Given the description of an element on the screen output the (x, y) to click on. 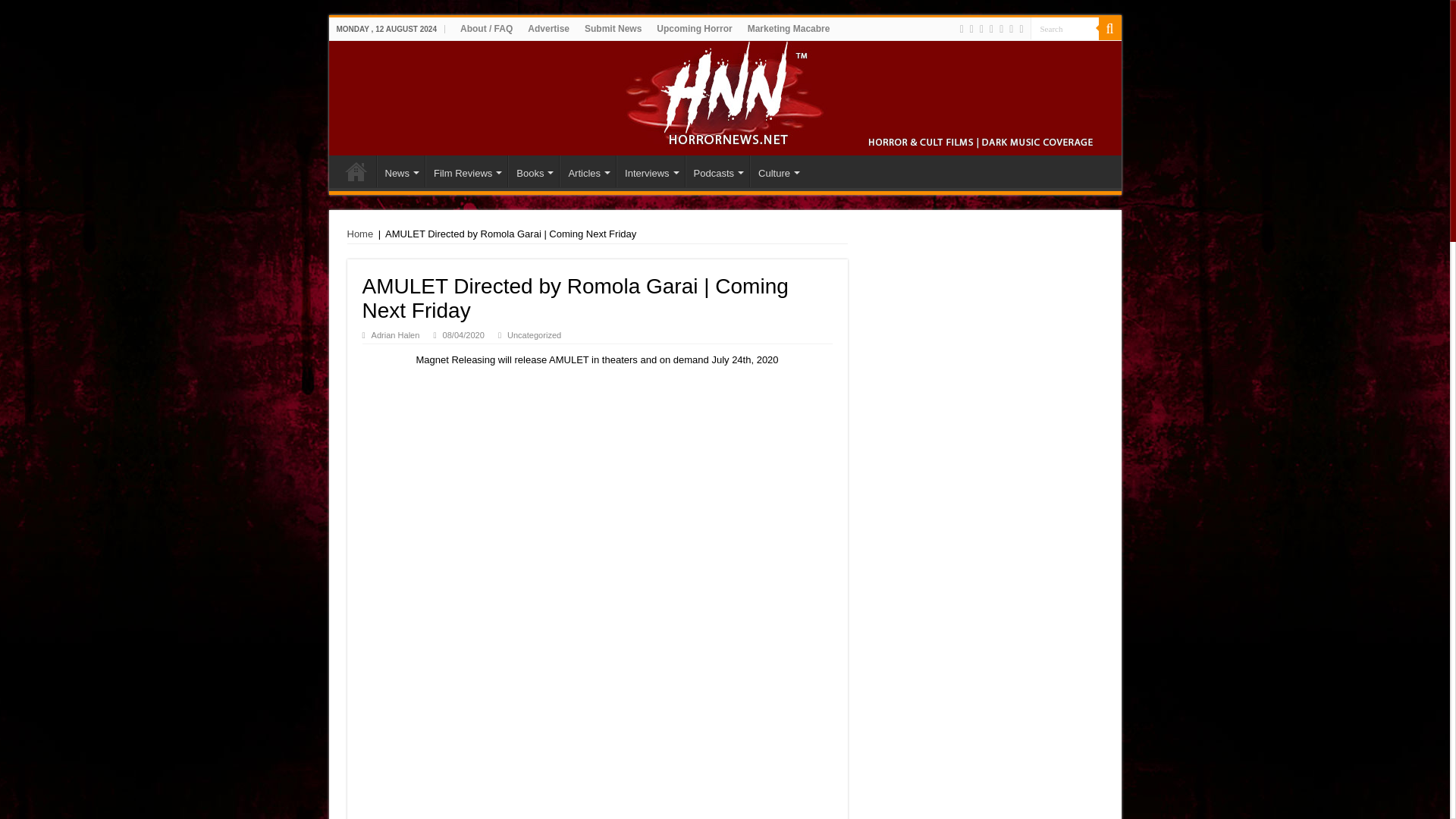
Marketing Macabre (788, 28)
Search (1109, 28)
Search (1063, 28)
Submit News to Horrornews.net (612, 28)
Film Reviews (465, 171)
Advertise on HorrorNews.net (547, 28)
Upcoming Horror (694, 28)
Search (1063, 28)
News (400, 171)
Submit News (612, 28)
